Given the description of an element on the screen output the (x, y) to click on. 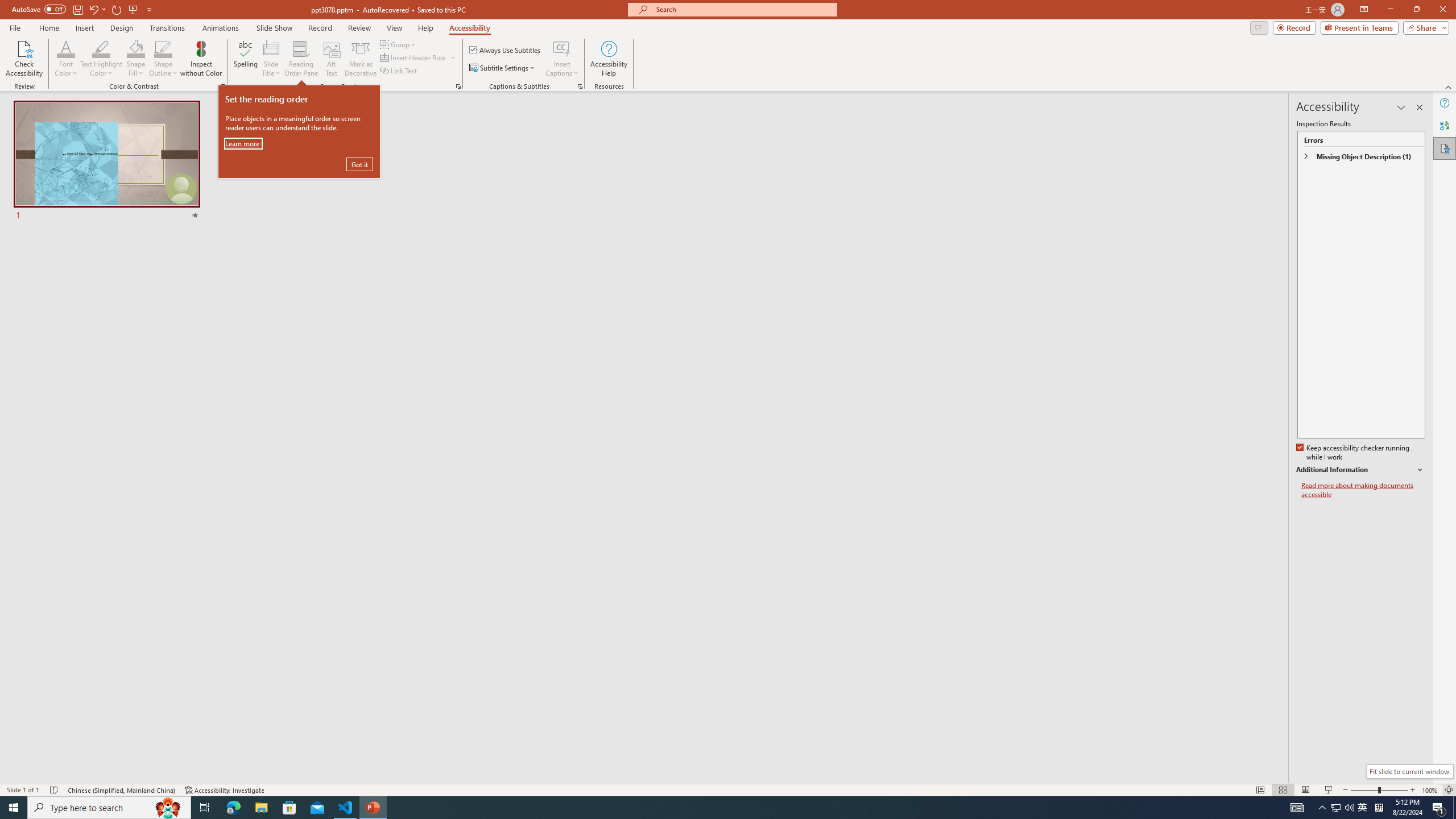
Slide Title (271, 48)
